Given the description of an element on the screen output the (x, y) to click on. 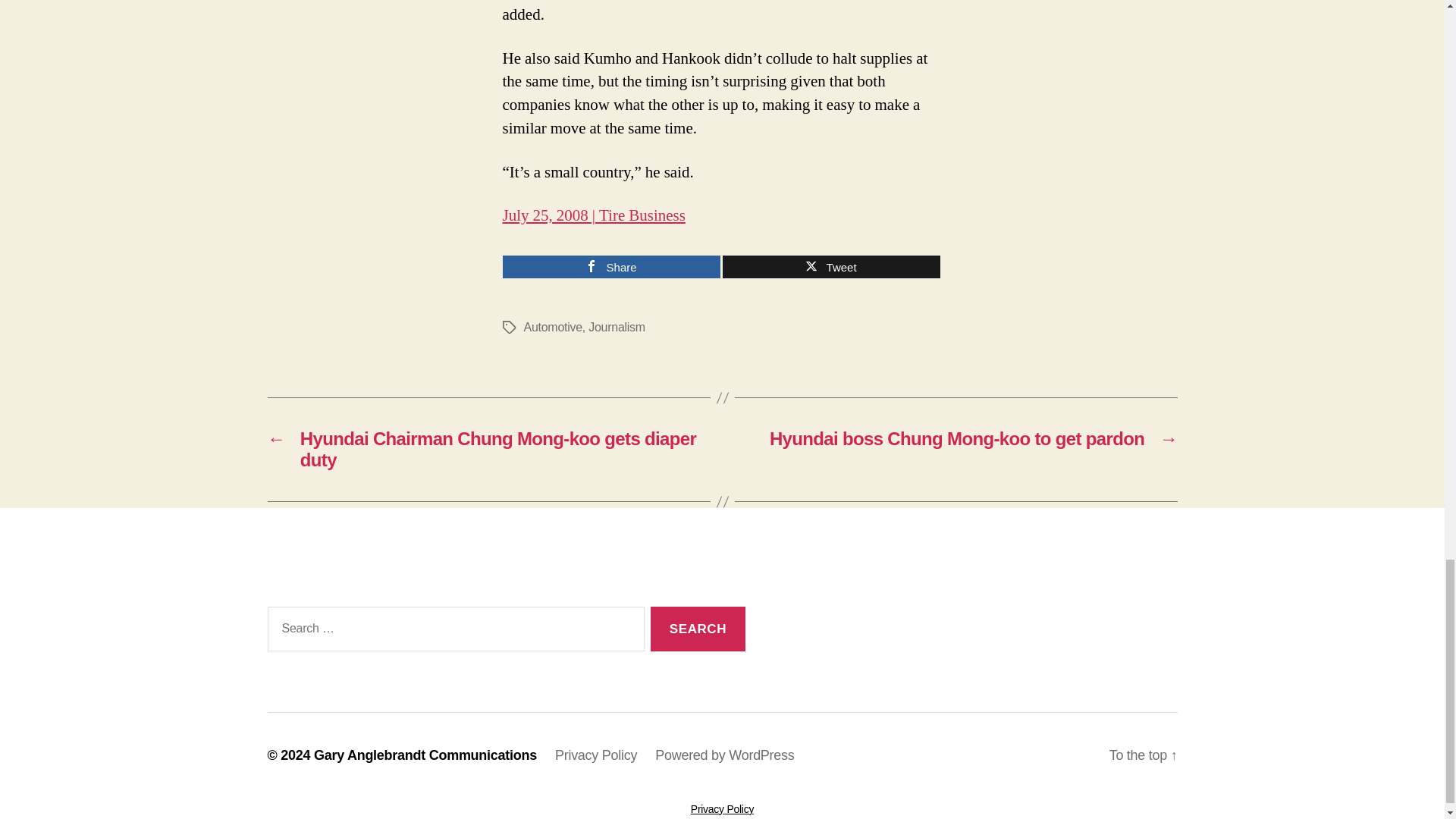
Search (697, 628)
Search (697, 628)
